Given the description of an element on the screen output the (x, y) to click on. 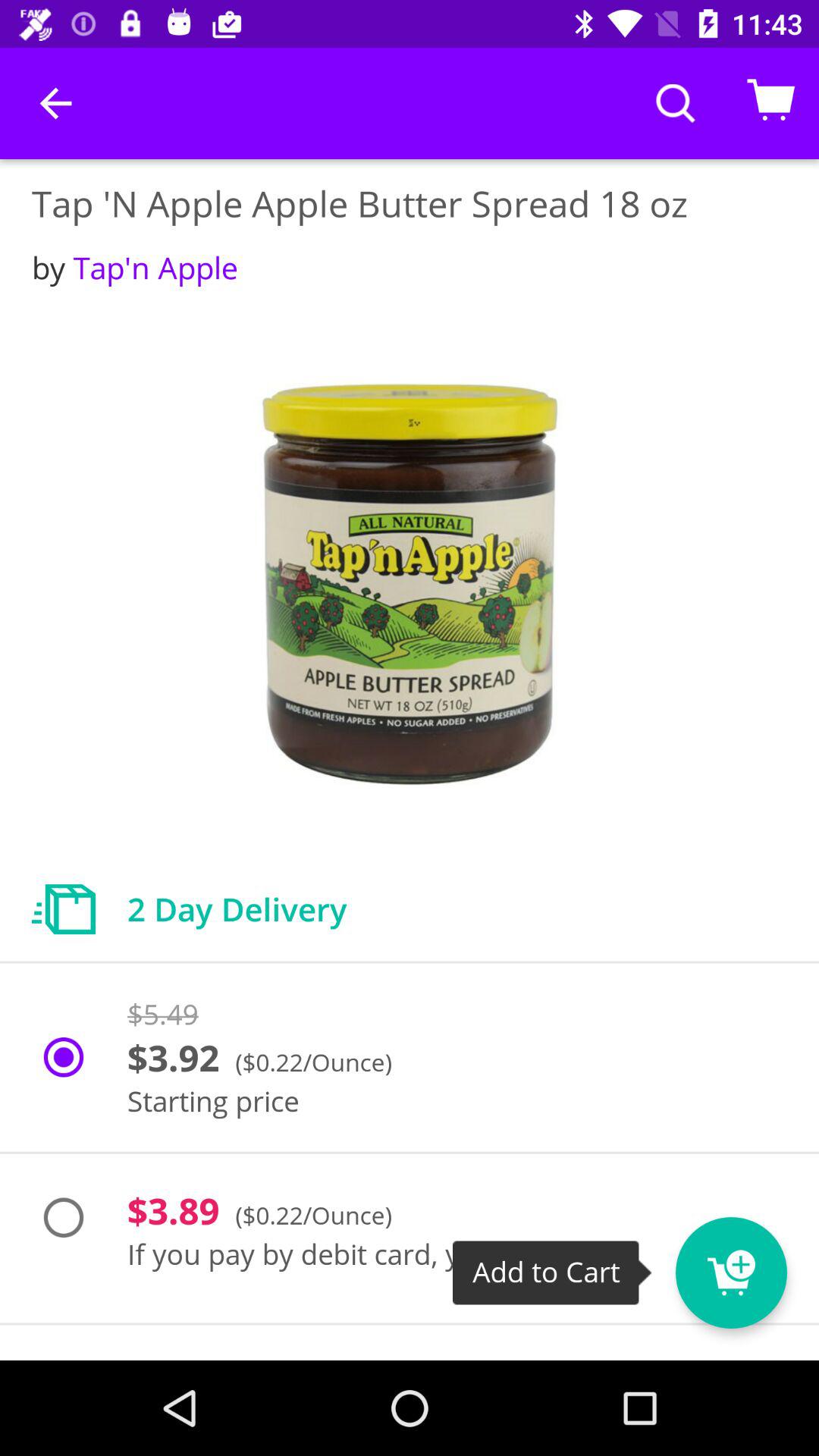
add item to cart (759, 1263)
